Given the description of an element on the screen output the (x, y) to click on. 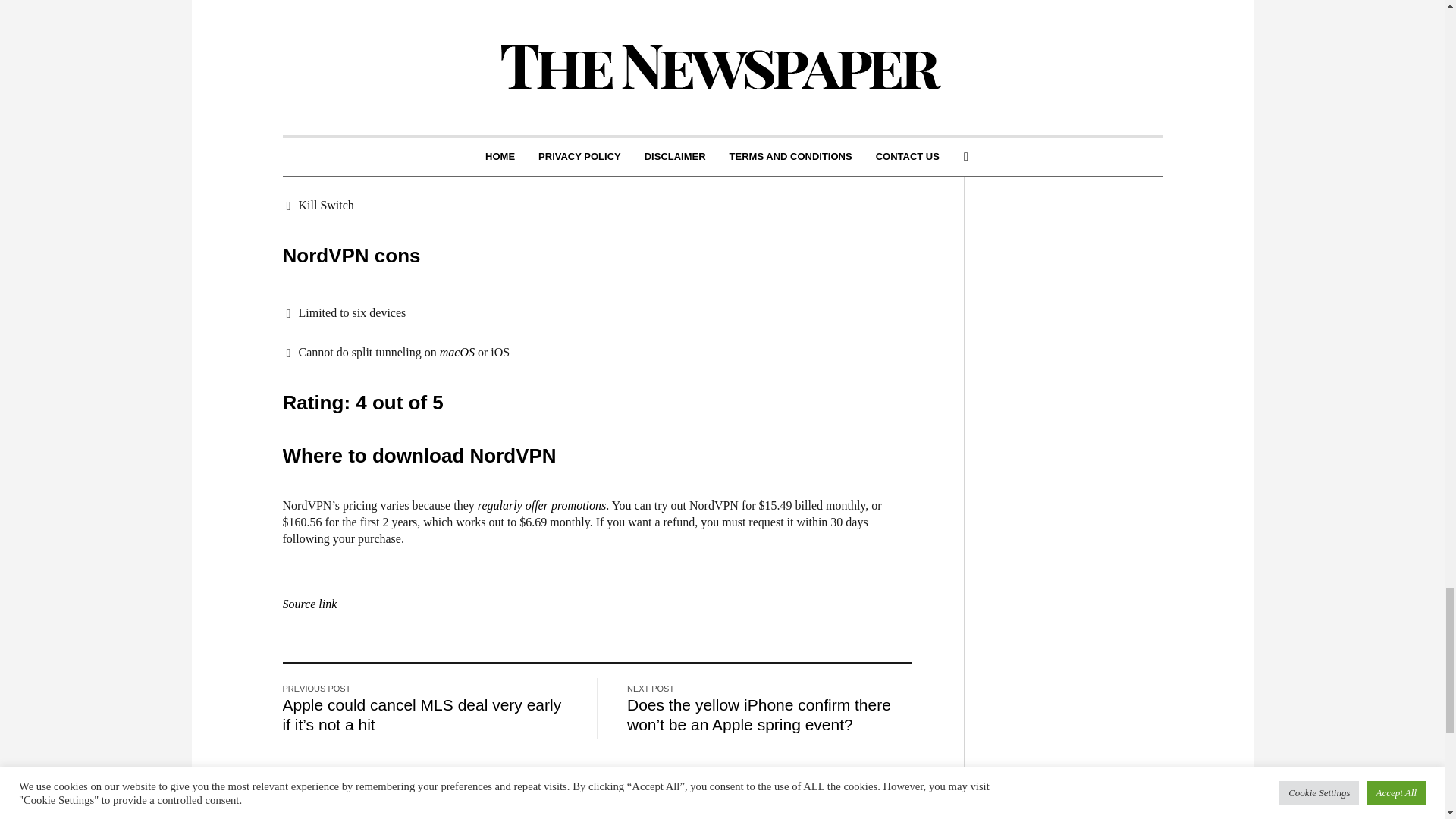
regularly offer promotions (541, 504)
Source link (309, 603)
macOS (456, 351)
macOS (456, 351)
